Given the description of an element on the screen output the (x, y) to click on. 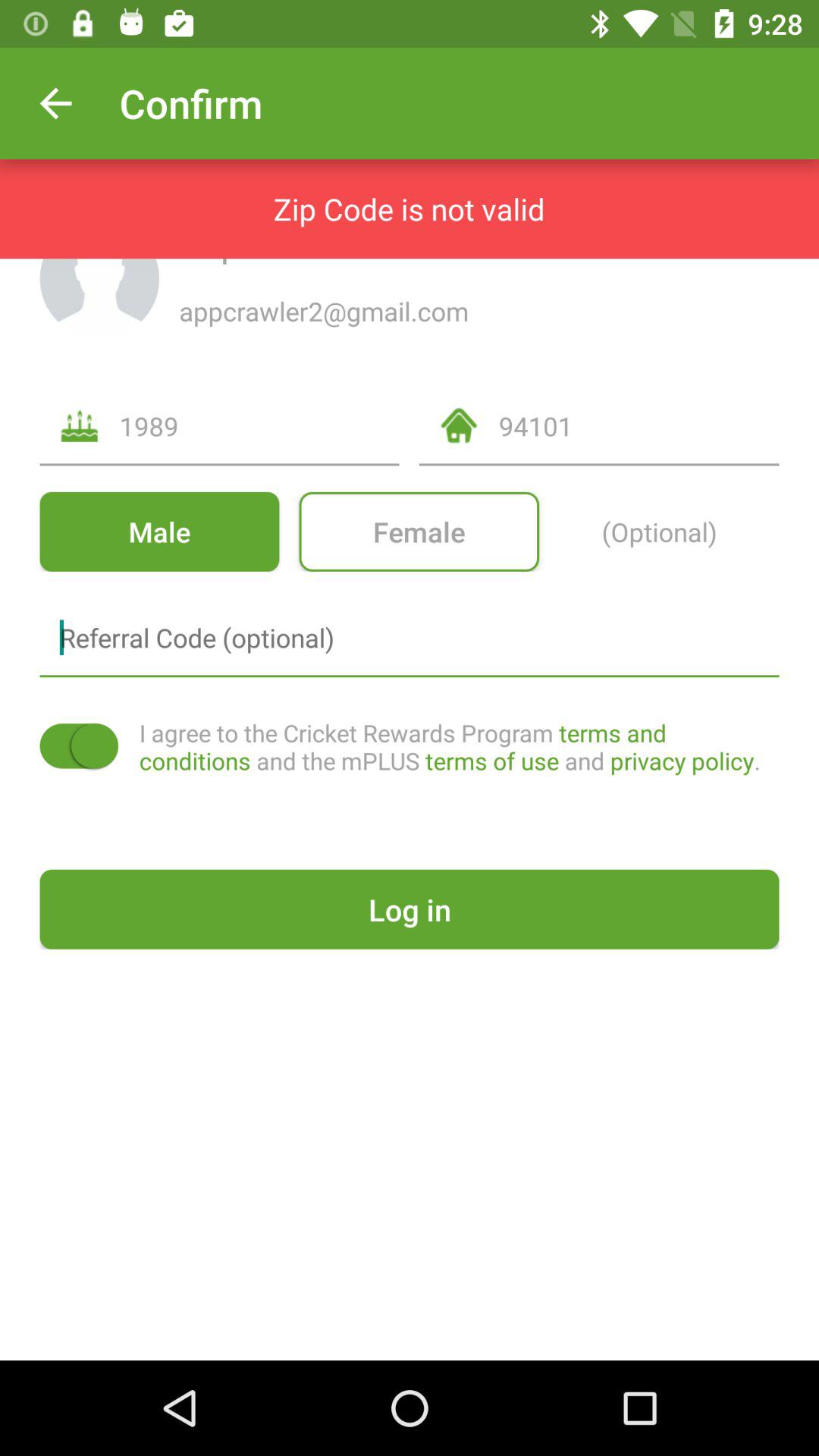
swipe to 1989 (259, 425)
